Given the description of an element on the screen output the (x, y) to click on. 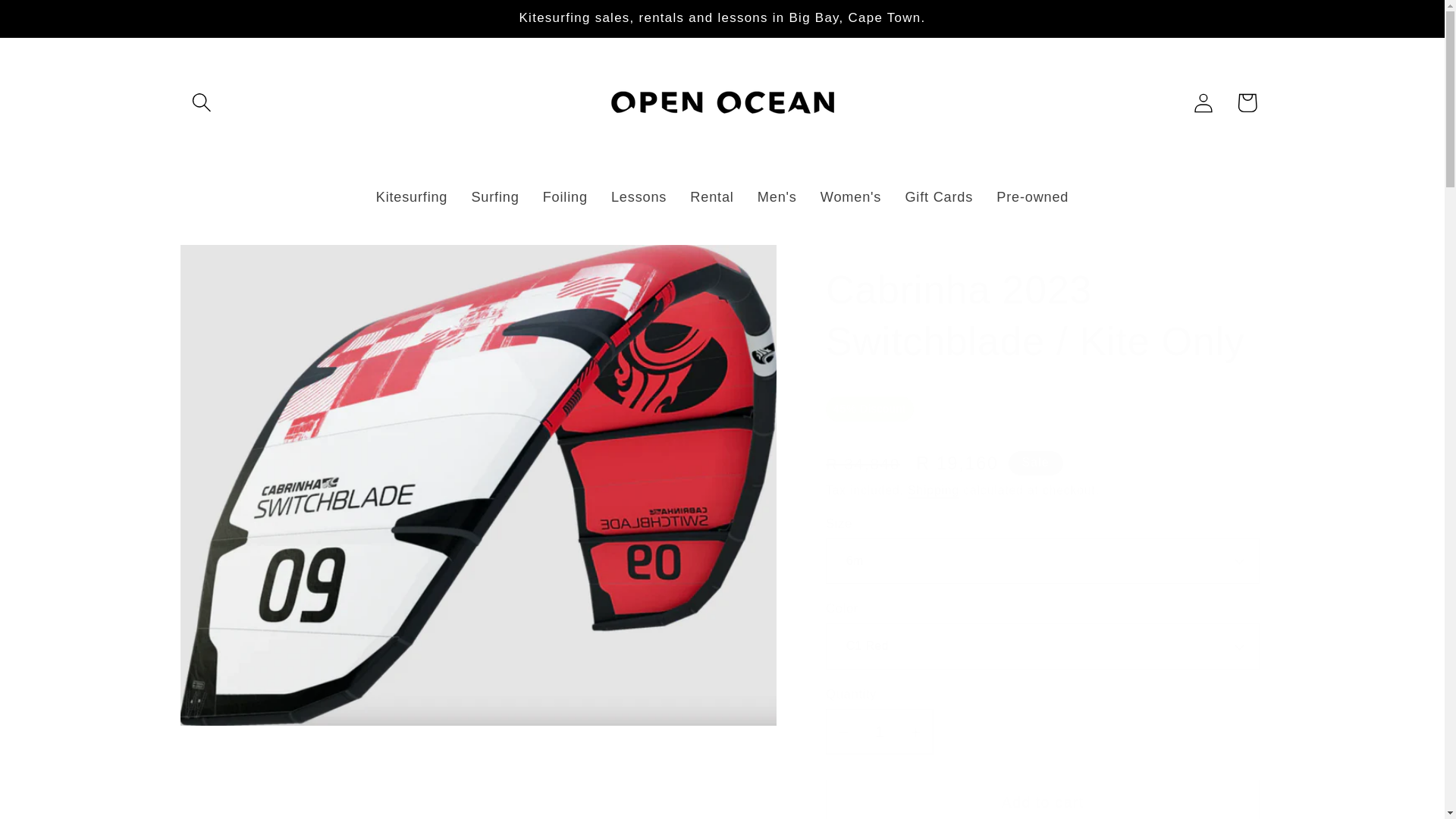
Skip to product information (238, 267)
Women's (850, 197)
Skip to content (59, 22)
Rental (711, 197)
Foiling (564, 197)
Kitesurfing (412, 197)
Lessons (638, 197)
Shipping (933, 490)
Surfing (495, 197)
Men's (776, 197)
Log in (1202, 102)
Pre-owned (1032, 197)
Cart (1246, 102)
1 (879, 732)
Gift Cards (939, 197)
